Given the description of an element on the screen output the (x, y) to click on. 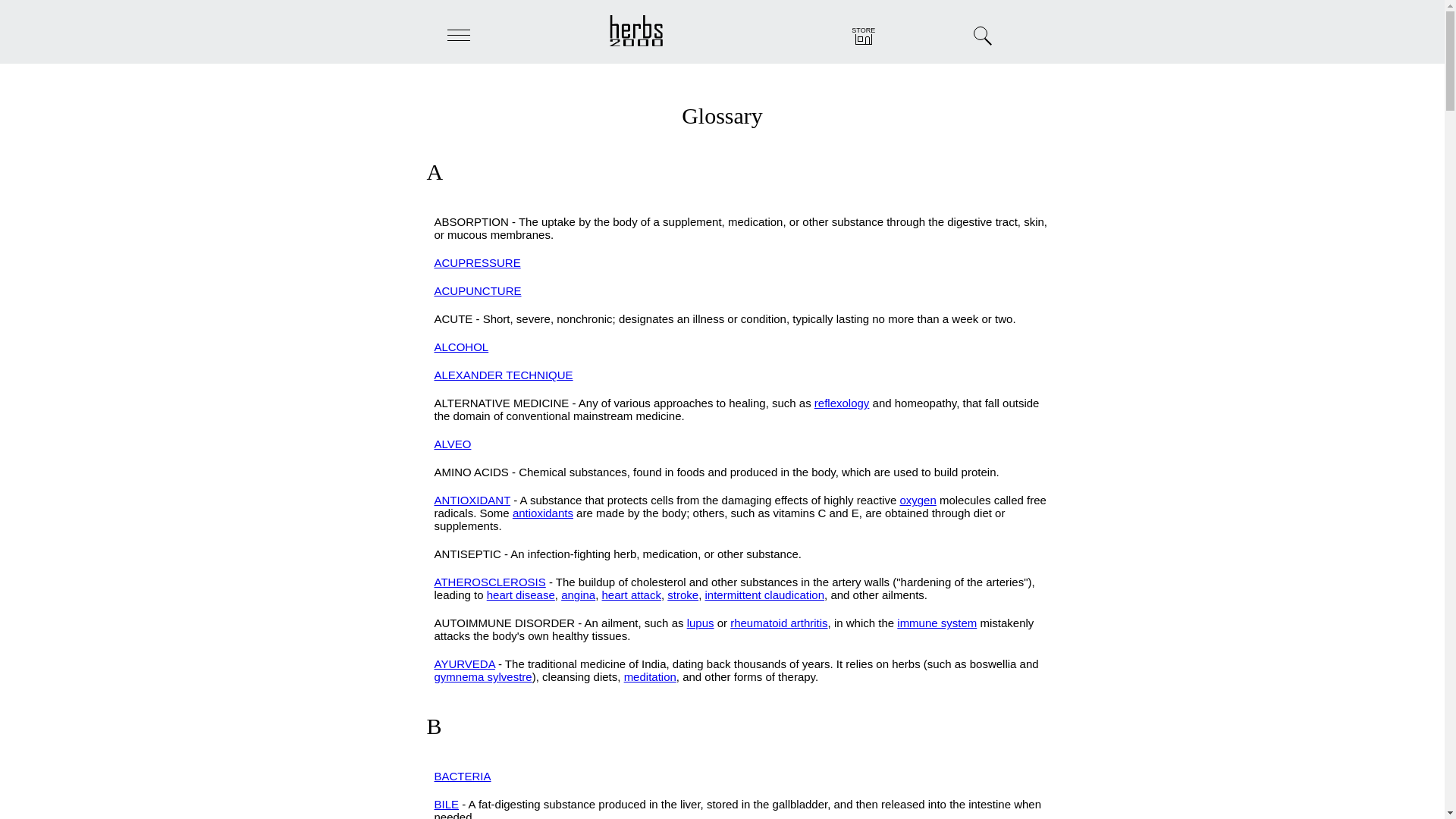
rheumatoid arthritis (778, 622)
ALCOHOL (460, 346)
immune system (936, 622)
ACUPRESSURE (476, 262)
heart attack (631, 594)
intermittent claudication (764, 594)
AYURVEDA (464, 663)
ALVEO (451, 443)
oxygen (917, 499)
ANTIOXIDANT (472, 499)
heart disease (520, 594)
ALEXANDER TECHNIQUE (502, 374)
stroke (682, 594)
ATHEROSCLEROSIS (488, 581)
lupus (700, 622)
